Given the description of an element on the screen output the (x, y) to click on. 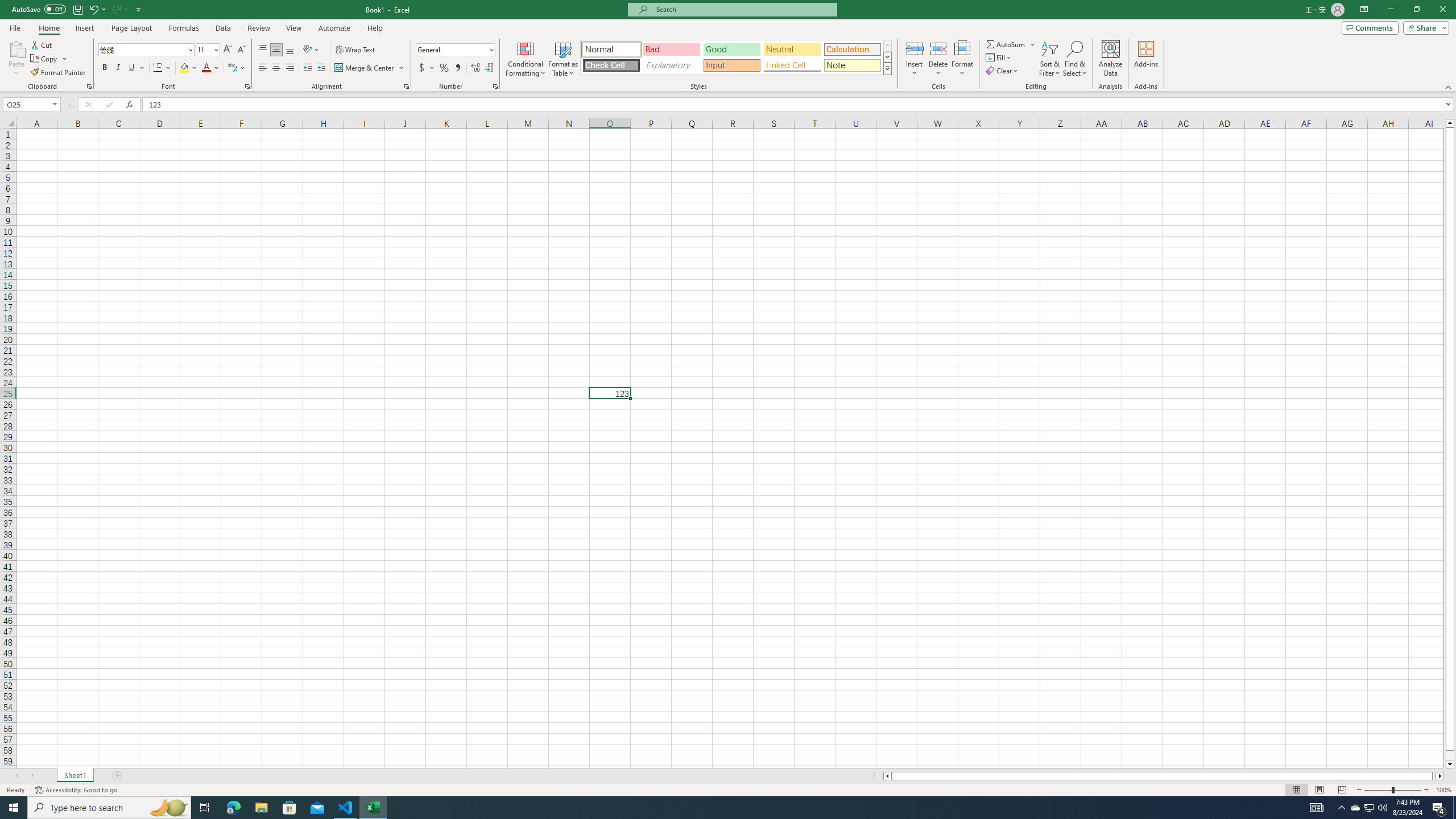
Add Sheet (117, 775)
Find & Select (1075, 58)
Number Format (455, 49)
Orientation (311, 49)
Font (142, 49)
View (293, 28)
Formula Bar (799, 104)
Top Align (262, 49)
Copy (49, 58)
Comma Style (457, 67)
Data (223, 28)
Format Cell Number (494, 85)
Explanatory Text (671, 65)
Scroll Left (16, 775)
